Given the description of an element on the screen output the (x, y) to click on. 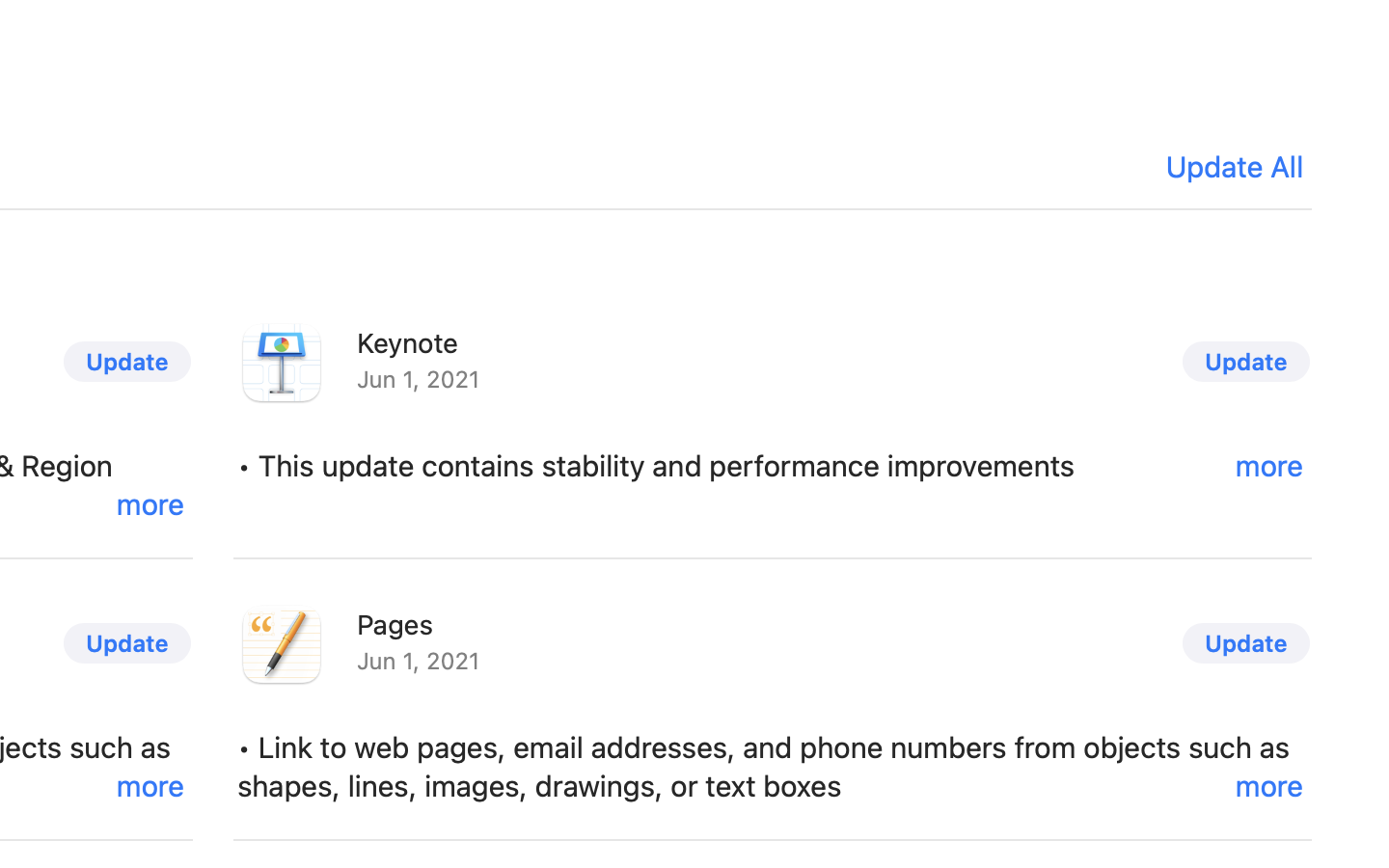
Pages Element type: AXStaticText (395, 623)
Keynote Element type: AXStaticText (408, 341)
• This update contains stability and performance improvements Element type: AXStaticText (772, 465)
• Link to web pages, email addresses, and phone numbers from objects such as shapes, lines, images, drawings, or text boxes Element type: AXStaticText (772, 766)
Jun 1, 2021 Element type: AXStaticText (772, 536)
